Given the description of an element on the screen output the (x, y) to click on. 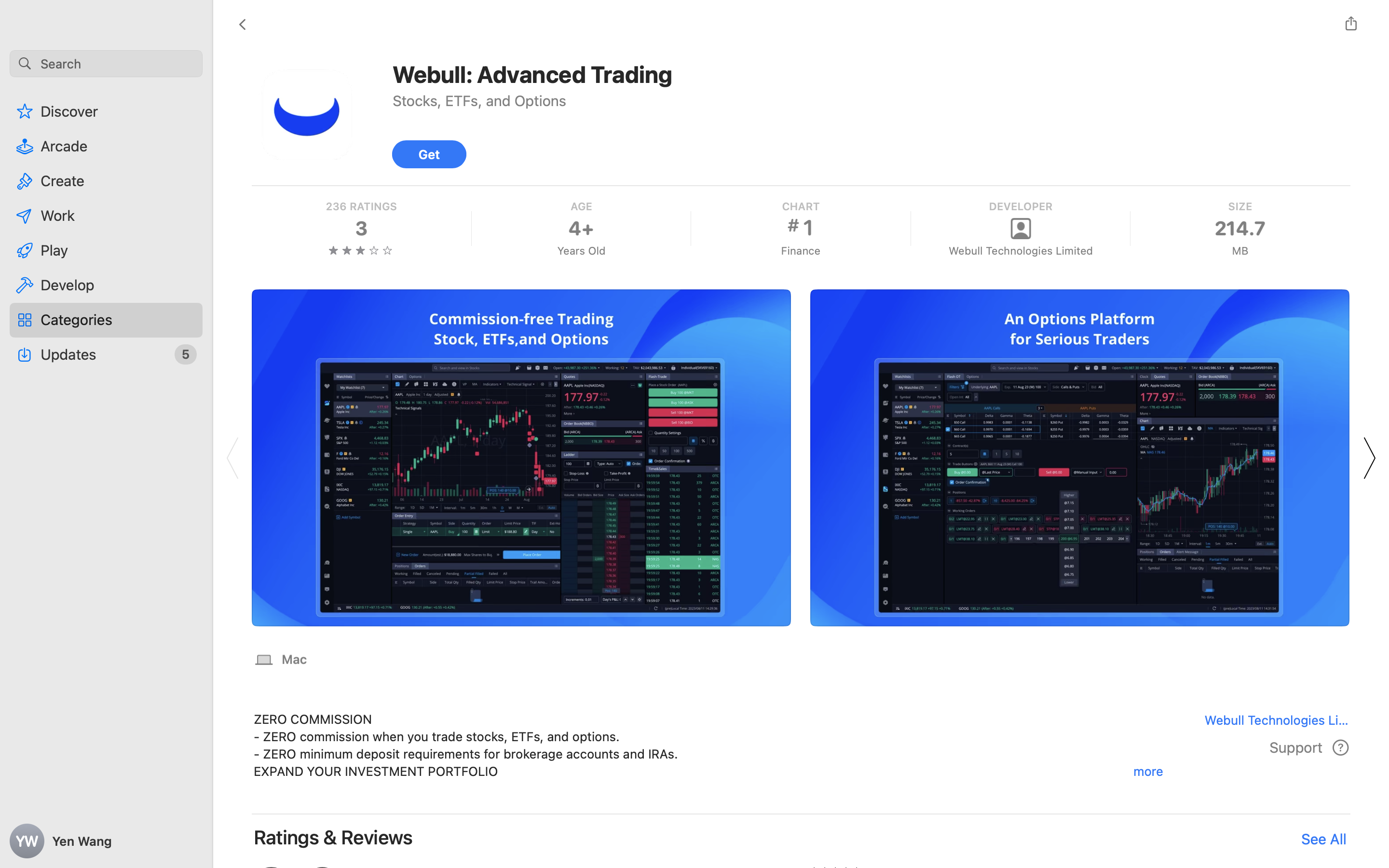
Webull Technologies Limited Element type: AXStaticText (1019, 250)
Webull Technologies Limited, DEVELOPER, selfie Element type: AXStaticText (1019, 228)
Years Old, AGE, 4+ Element type: AXStaticText (580, 228)
MB, SIZE, 214.7 Element type: AXStaticText (1239, 228)
AGE Element type: AXStaticText (580, 206)
